Given the description of an element on the screen output the (x, y) to click on. 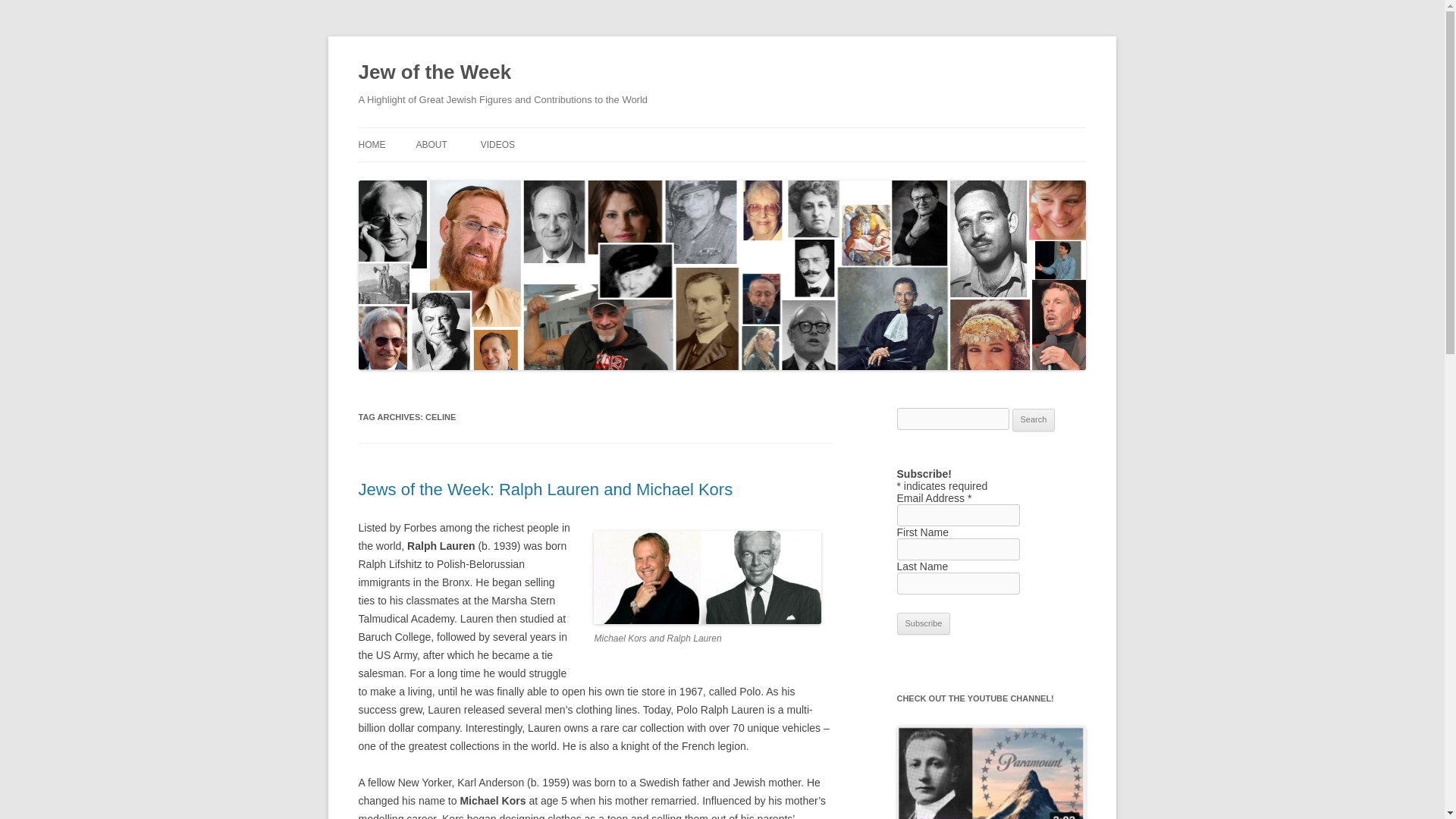
Subscribe (923, 623)
ABOUT (430, 144)
VIDEOS (497, 144)
Jews of the Week: Ralph Lauren and Michael Kors (545, 488)
Search (1033, 419)
Jew of the Week (434, 72)
Search (1033, 419)
Subscribe (923, 623)
